Given the description of an element on the screen output the (x, y) to click on. 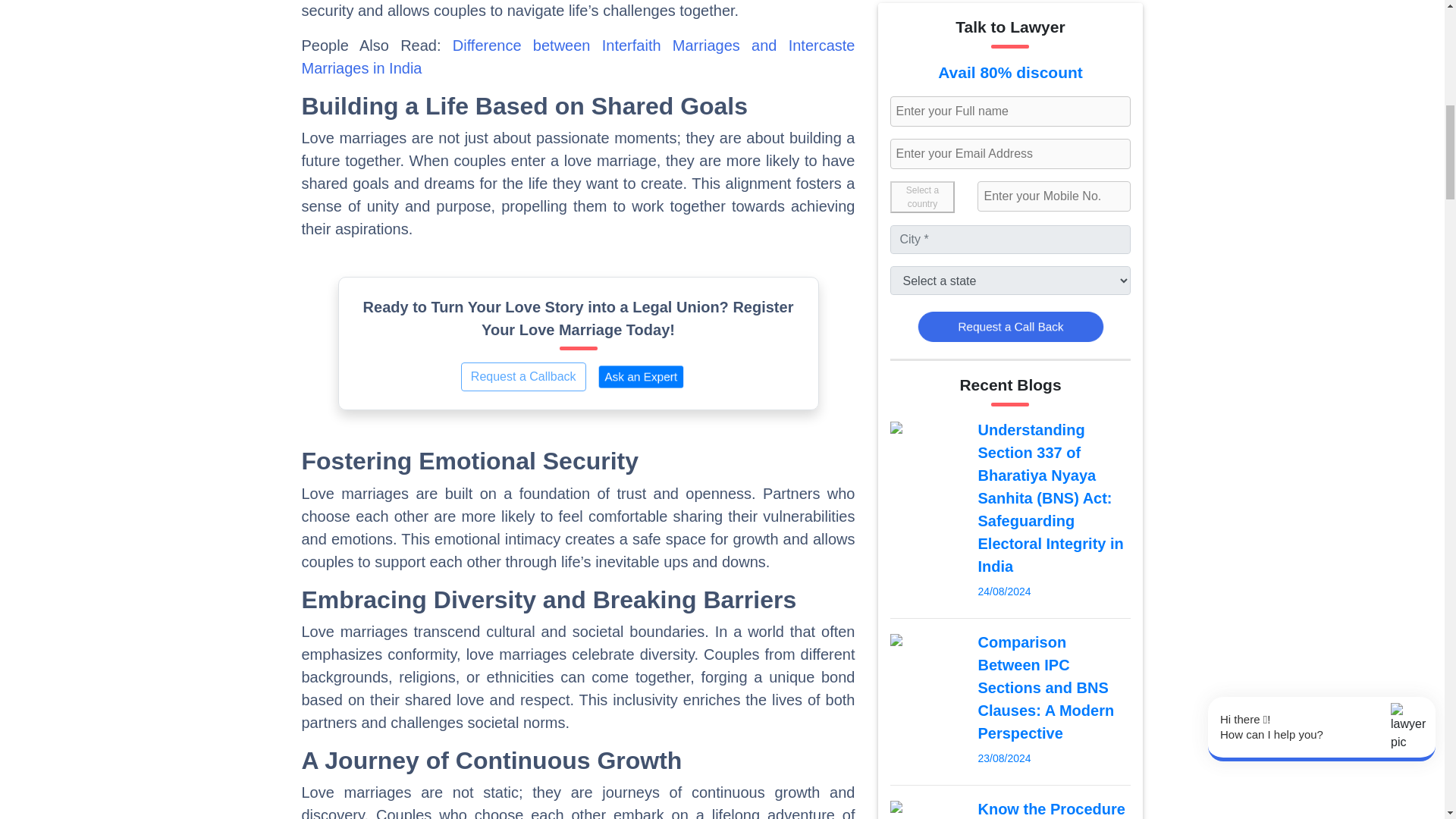
Request a Callback (523, 376)
Ask an Expert (640, 376)
Ask an Expert (653, 380)
